Given the description of an element on the screen output the (x, y) to click on. 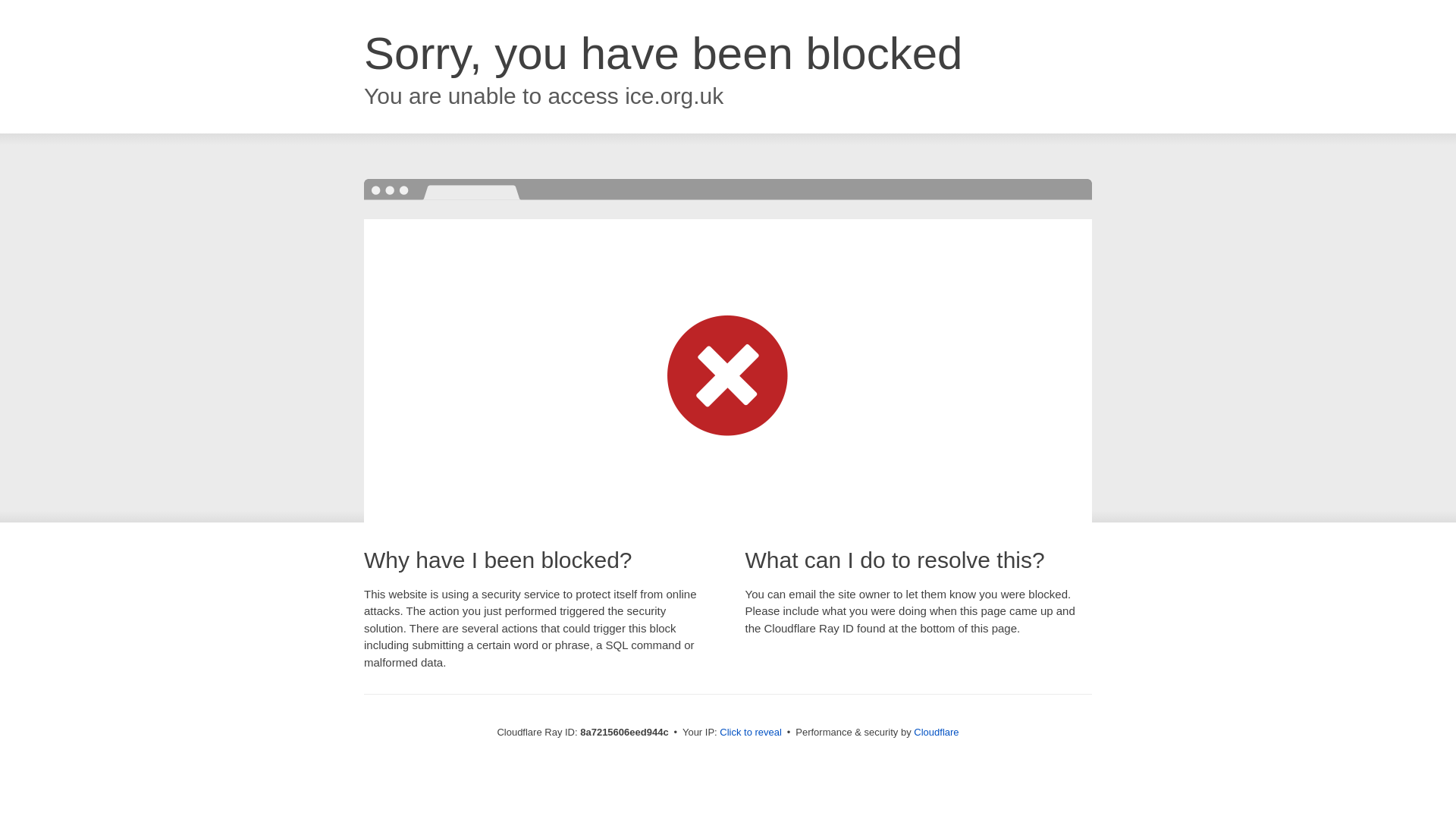
Cloudflare (936, 731)
Click to reveal (750, 732)
